Given the description of an element on the screen output the (x, y) to click on. 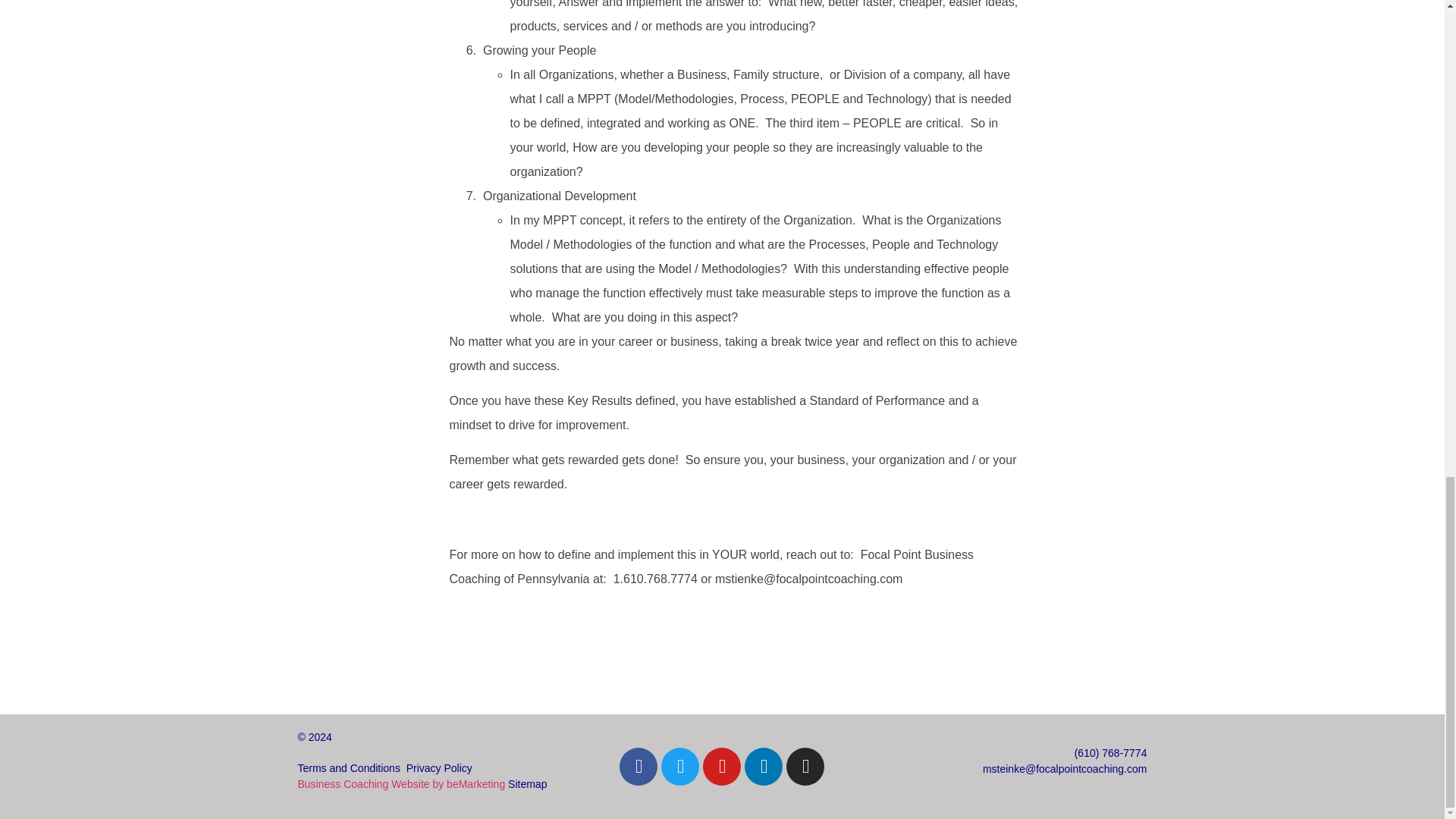
Sitemap (527, 784)
Privacy Policy (438, 767)
Terms and Conditions (347, 767)
Business Coaching Website by beMarketing (401, 784)
